Given the description of an element on the screen output the (x, y) to click on. 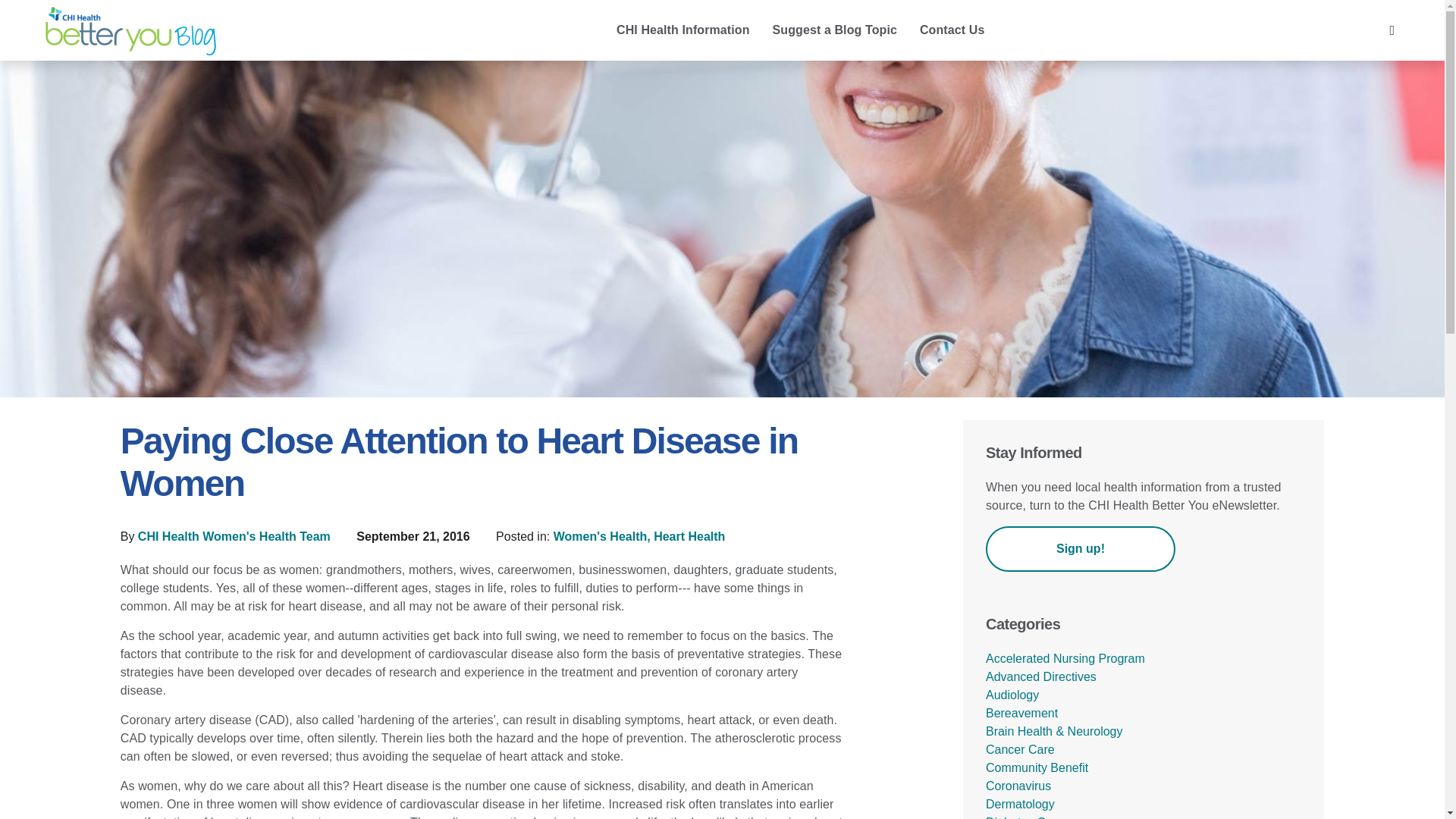
Diabetes Care (1023, 817)
Women's Health, (603, 535)
Sign up! (1079, 548)
Community Benefit (1036, 767)
Contact Us (951, 31)
Bereavement (1021, 712)
Coronavirus (1018, 785)
Suggest a Blog Topic (834, 31)
CHI Health Women's Health Team (235, 535)
CHI Health Information (683, 31)
